Given the description of an element on the screen output the (x, y) to click on. 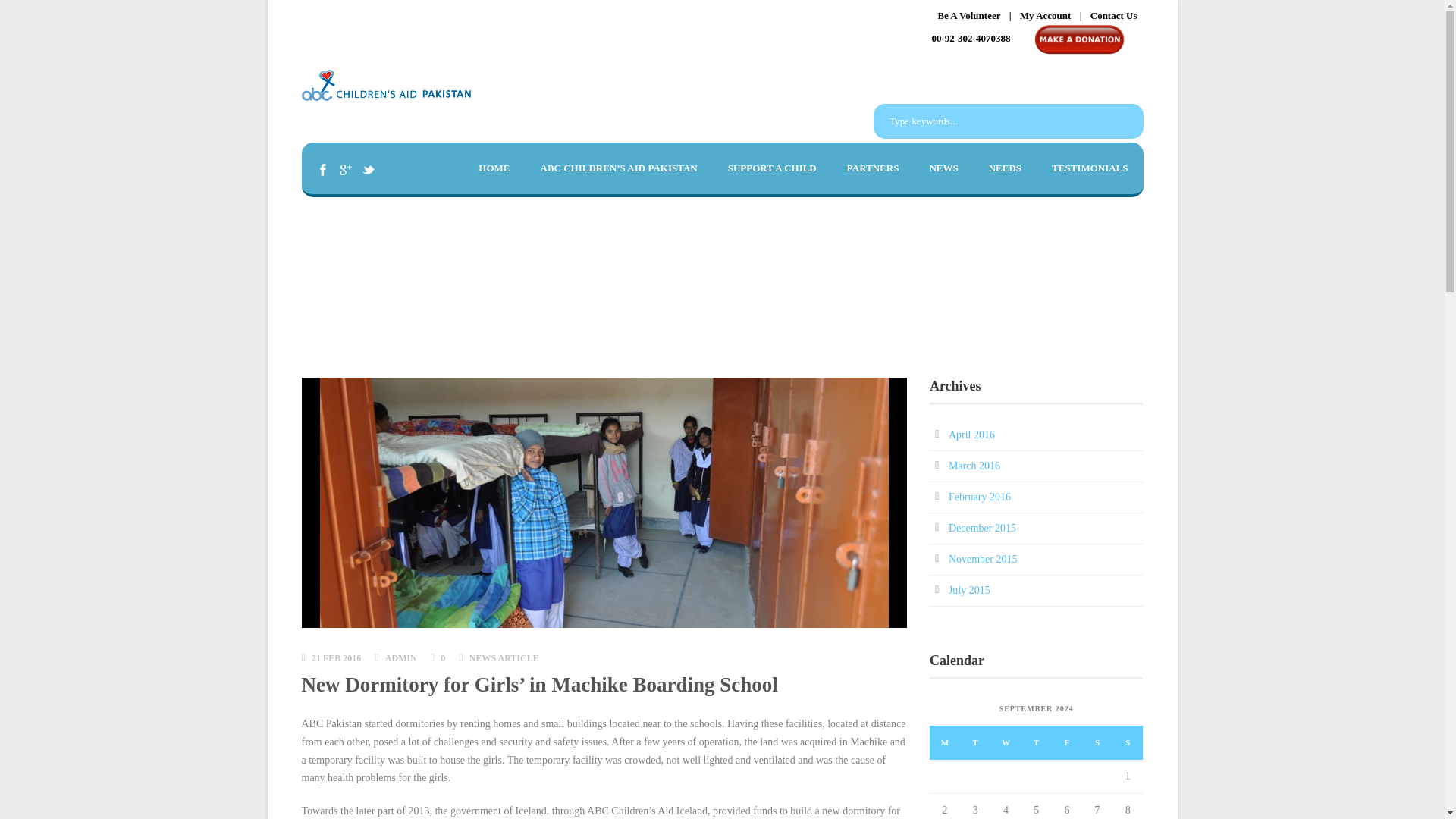
Type keywords... (1007, 121)
My Account (1045, 15)
Contact Us (1113, 15)
Monday (944, 742)
Sunday (1127, 742)
Thursday (1036, 742)
Posts by admin (400, 657)
Be A Volunteer (968, 15)
